Given the description of an element on the screen output the (x, y) to click on. 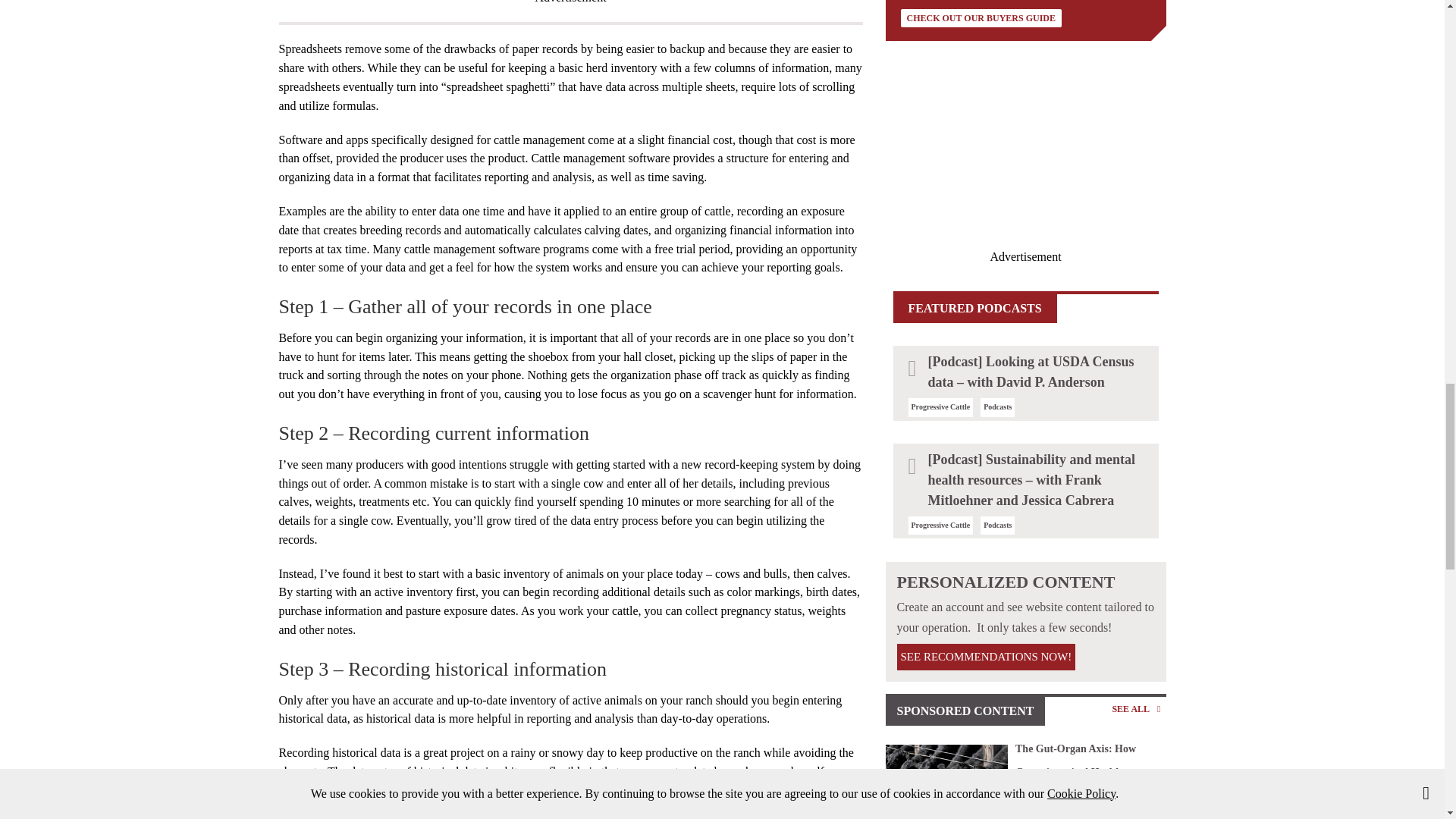
volac-beef-main.jpg (947, 781)
